Given the description of an element on the screen output the (x, y) to click on. 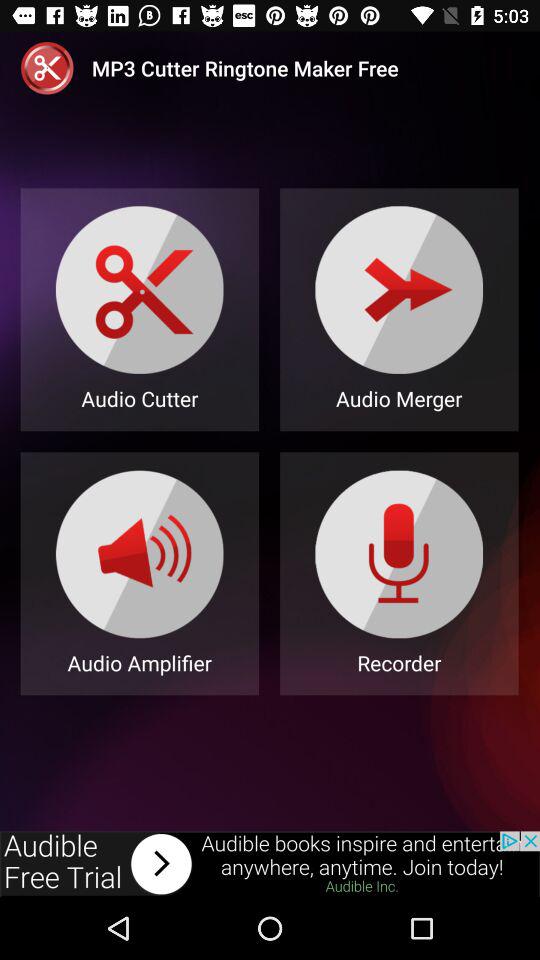
view the advertisement (270, 864)
